Given the description of an element on the screen output the (x, y) to click on. 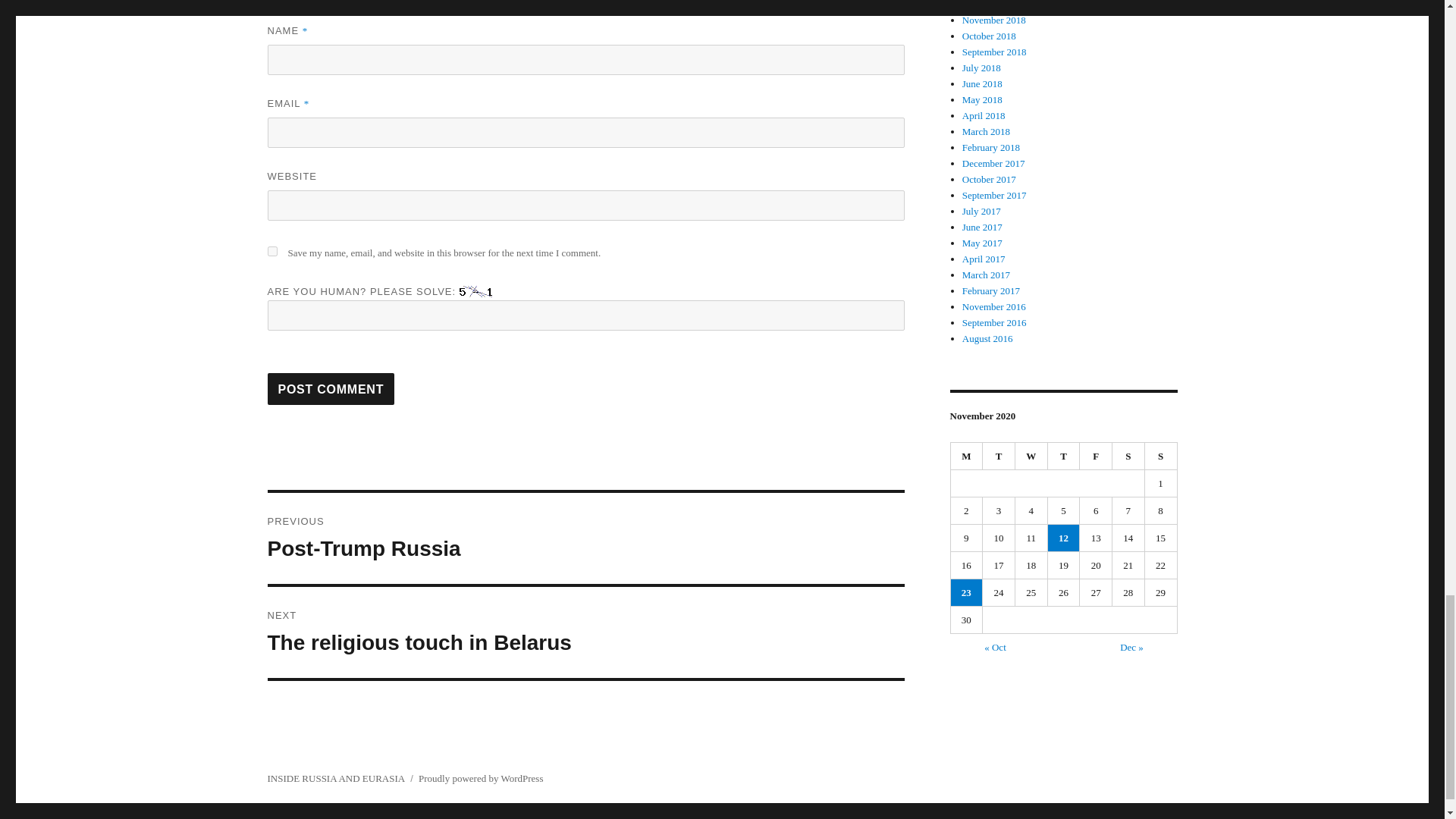
Tuesday (998, 456)
Post Comment (330, 388)
Friday (1096, 456)
Thursday (1064, 456)
Wednesday (1031, 456)
Post Comment (330, 388)
Sunday (1160, 456)
yes (585, 538)
Saturday (271, 251)
Monday (1128, 456)
